Given the description of an element on the screen output the (x, y) to click on. 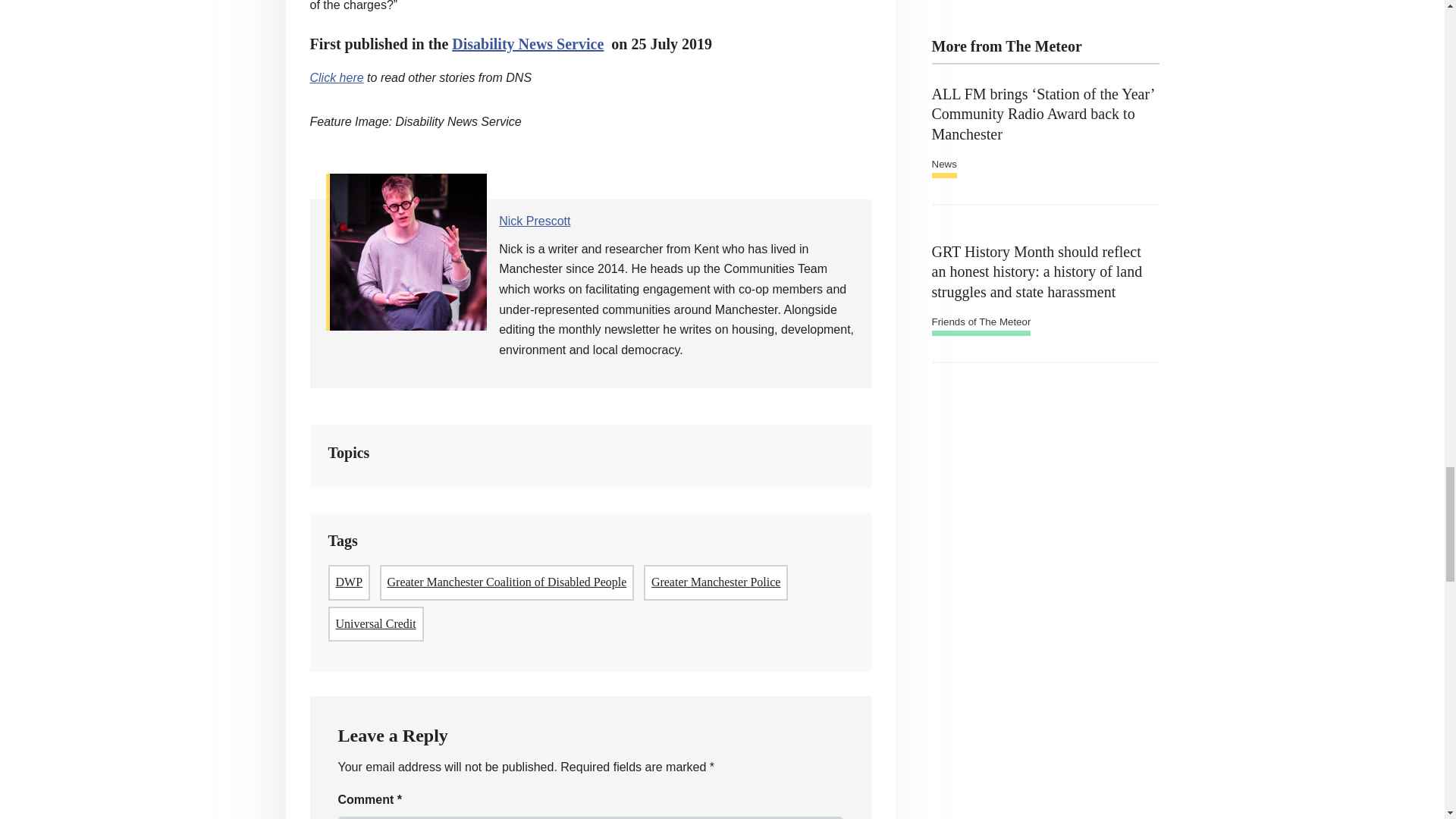
Disability News Service (527, 44)
Click here (335, 77)
